Given the description of an element on the screen output the (x, y) to click on. 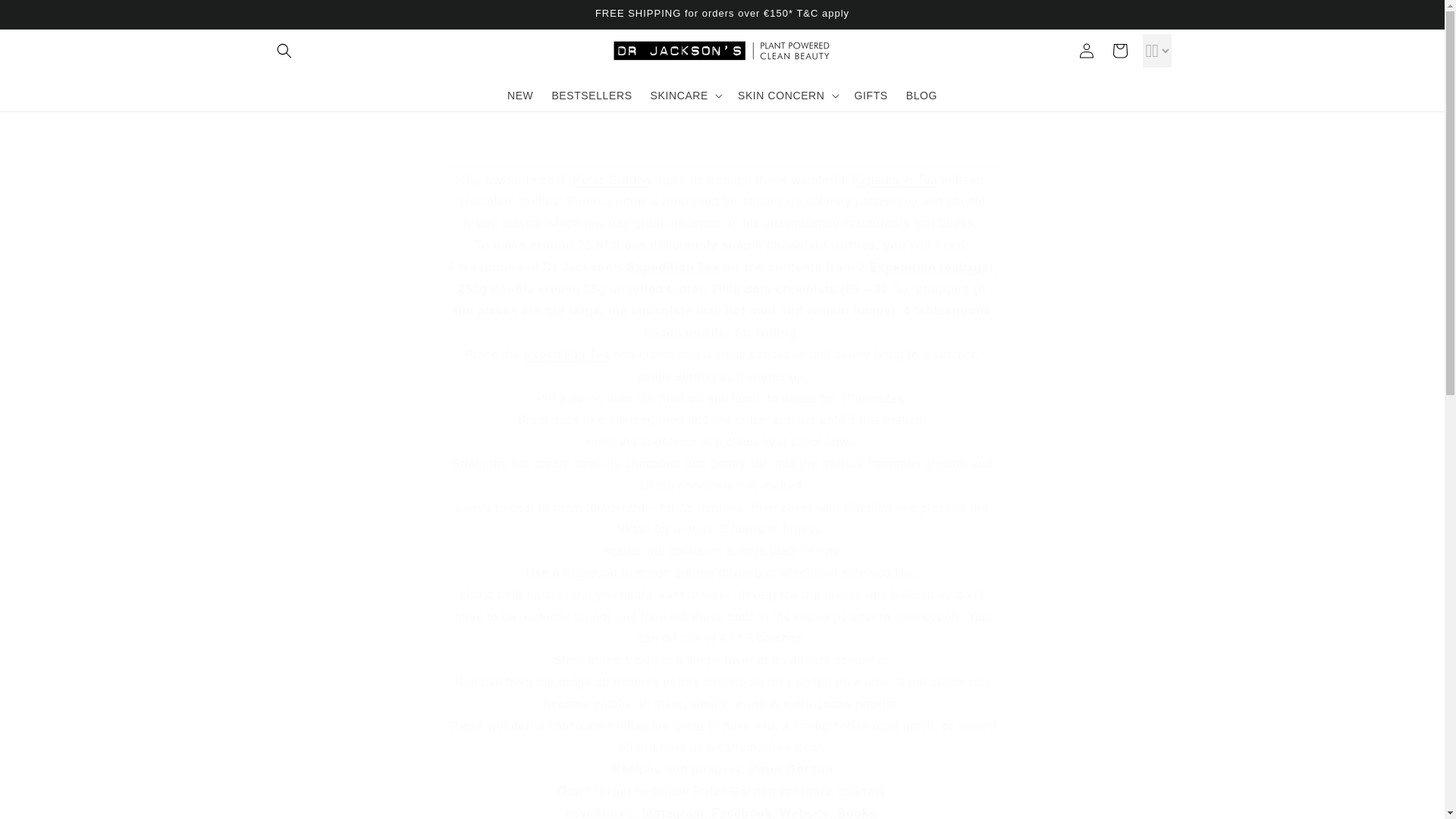
BESTSELLERS (590, 94)
NEW (519, 94)
Skip to content (45, 17)
